Given the description of an element on the screen output the (x, y) to click on. 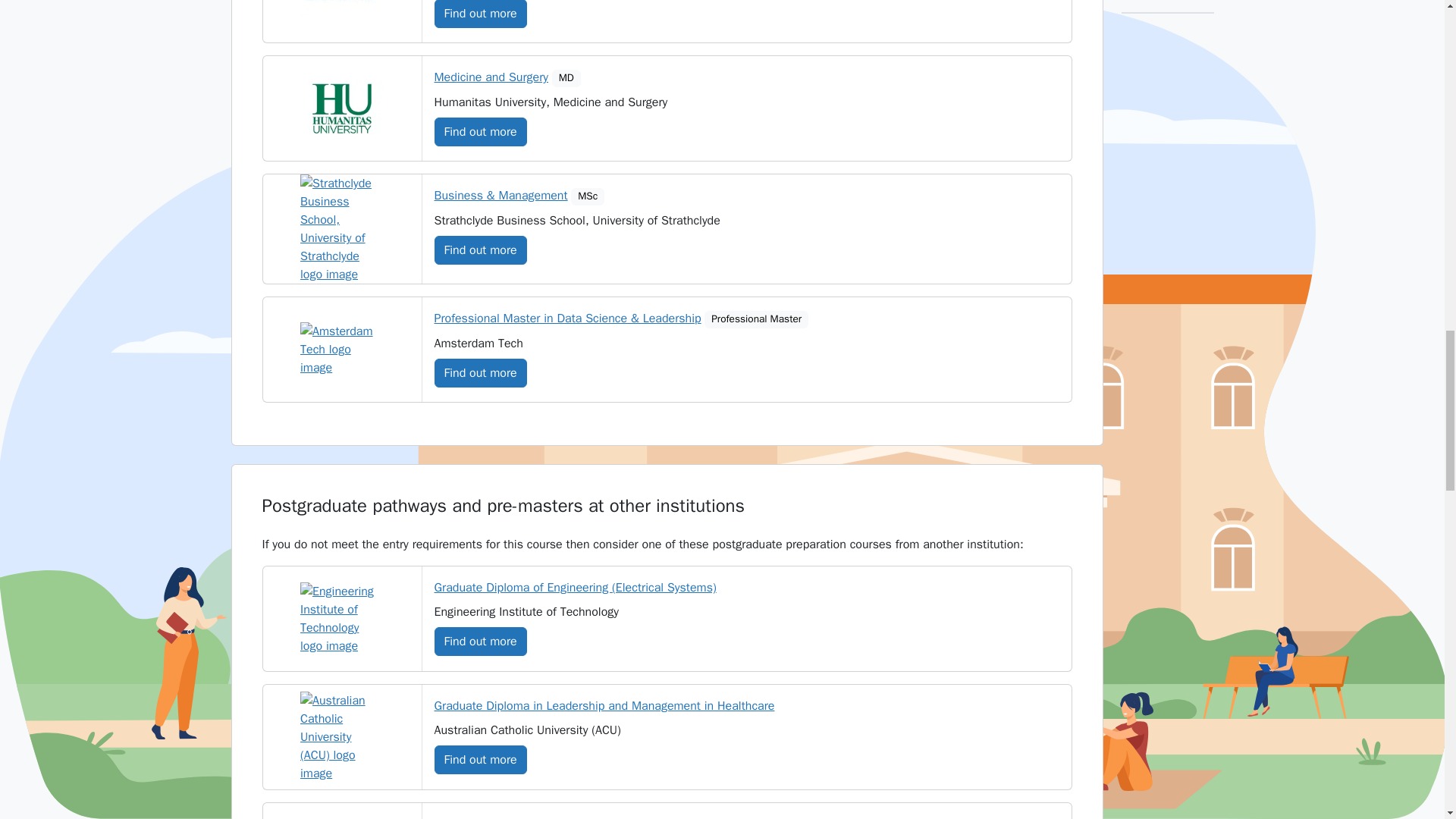
Amsterdam Tech (341, 349)
Engineering Institute of Technology (341, 618)
Humanitas University, Medicine and Surgery (341, 108)
EU Business School Digital (341, 9)
